Given the description of an element on the screen output the (x, y) to click on. 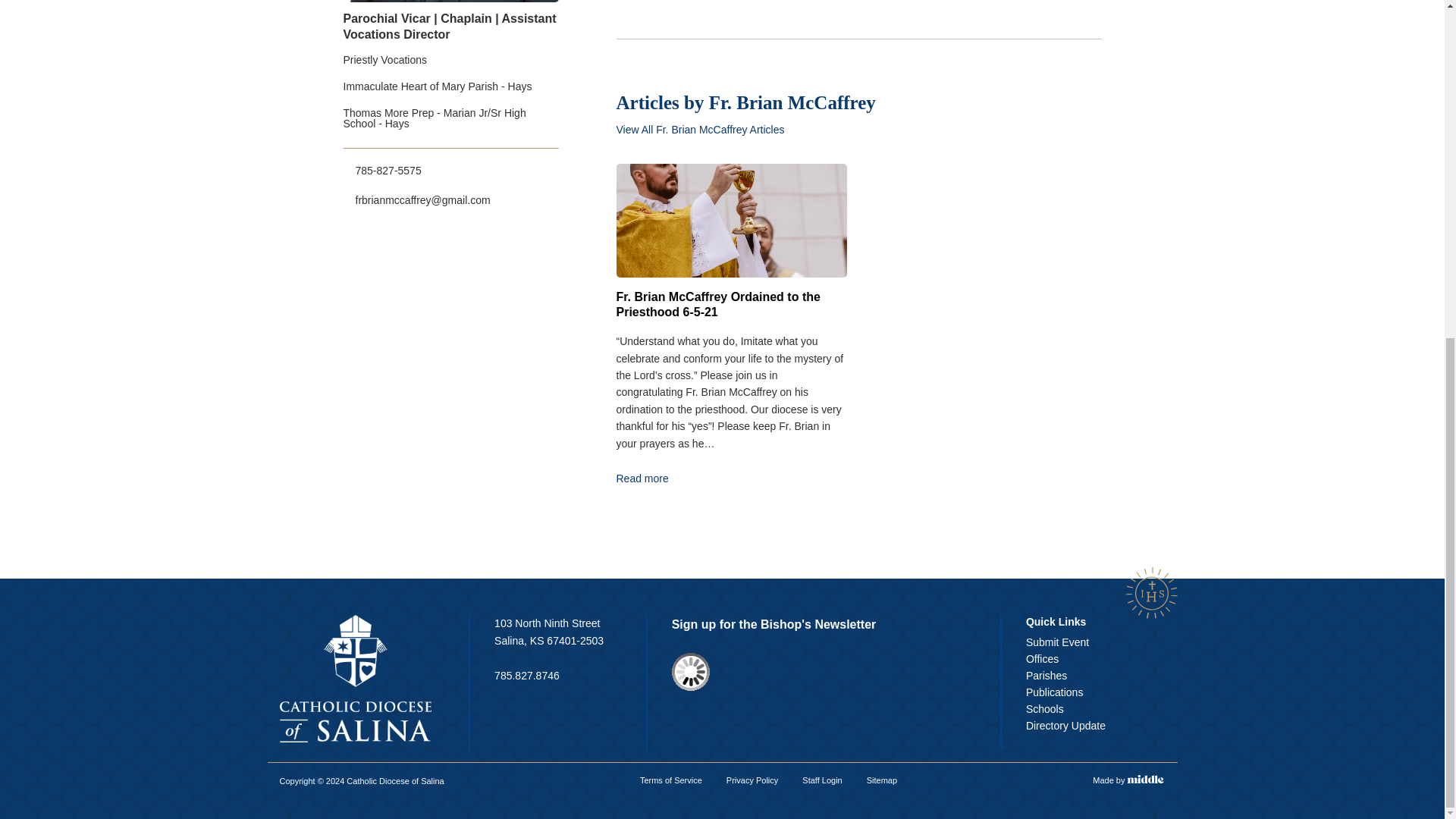
Group 53 Copy Created with Sketch. (1150, 592)
